Given the description of an element on the screen output the (x, y) to click on. 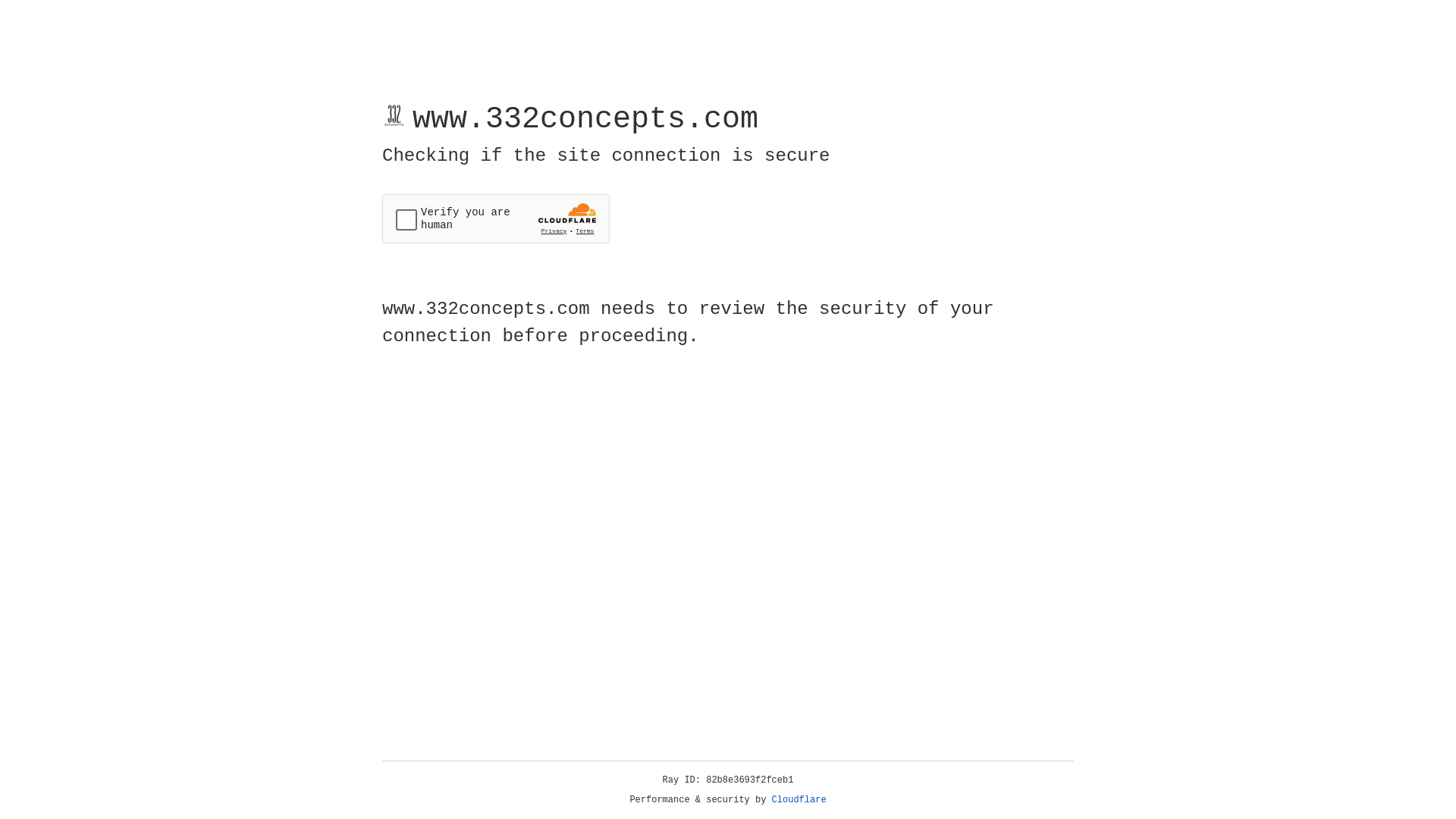
Cloudflare Element type: text (798, 799)
Widget containing a Cloudflare security challenge Element type: hover (495, 218)
